Given the description of an element on the screen output the (x, y) to click on. 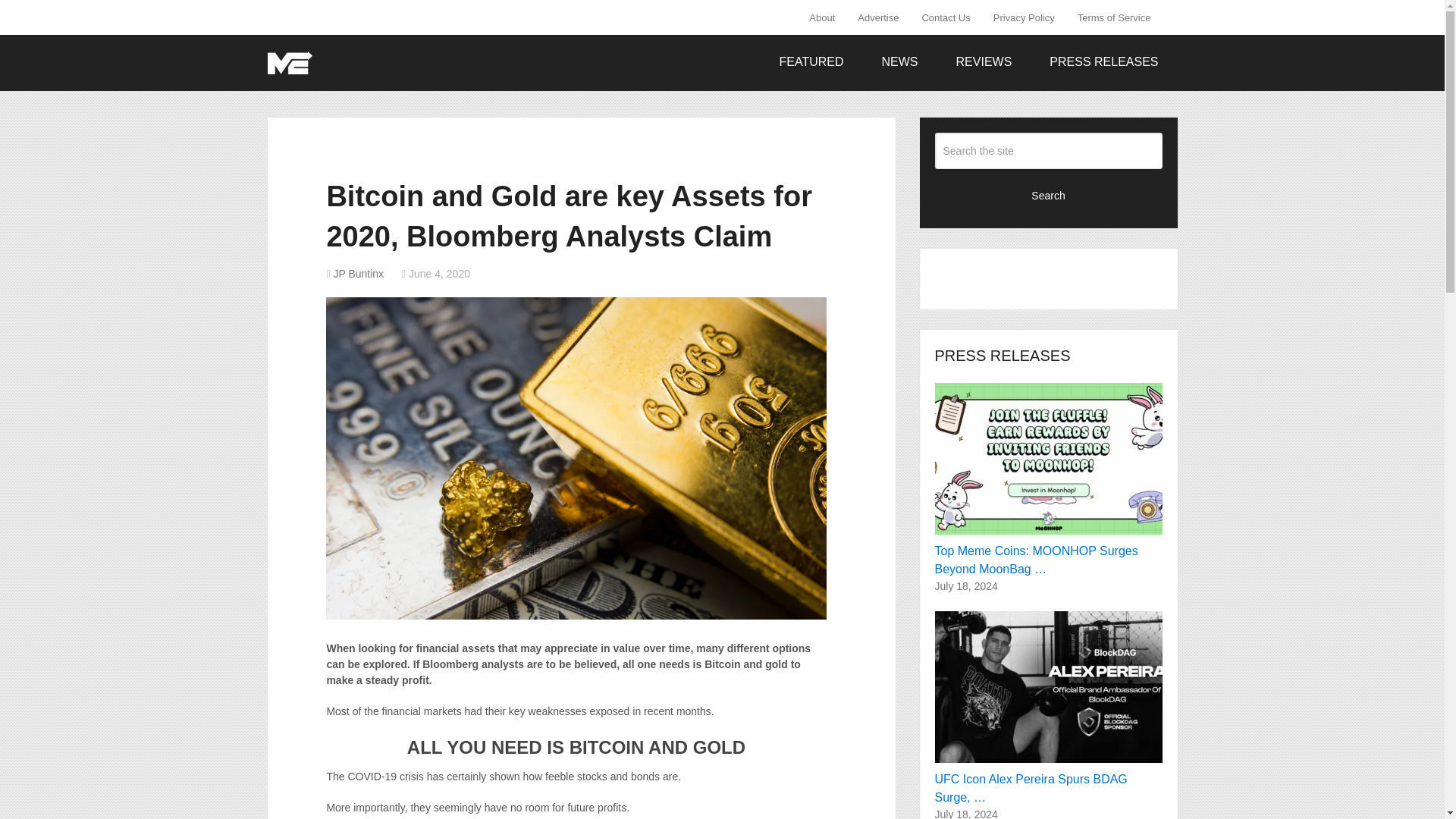
Advertise (877, 17)
REVIEWS (983, 62)
Terms of Service (1113, 17)
Posts by JP Buntinx (358, 273)
Search (1047, 194)
FEATURED (810, 62)
PRESS RELEASES (1103, 62)
NEWS (900, 62)
JP Buntinx (358, 273)
Top Meme Coins: MOONHOP Surges Beyond MoonBag and 99Bitcoins (1047, 478)
Privacy Policy (1023, 17)
Contact Us (945, 17)
About (827, 17)
